Given the description of an element on the screen output the (x, y) to click on. 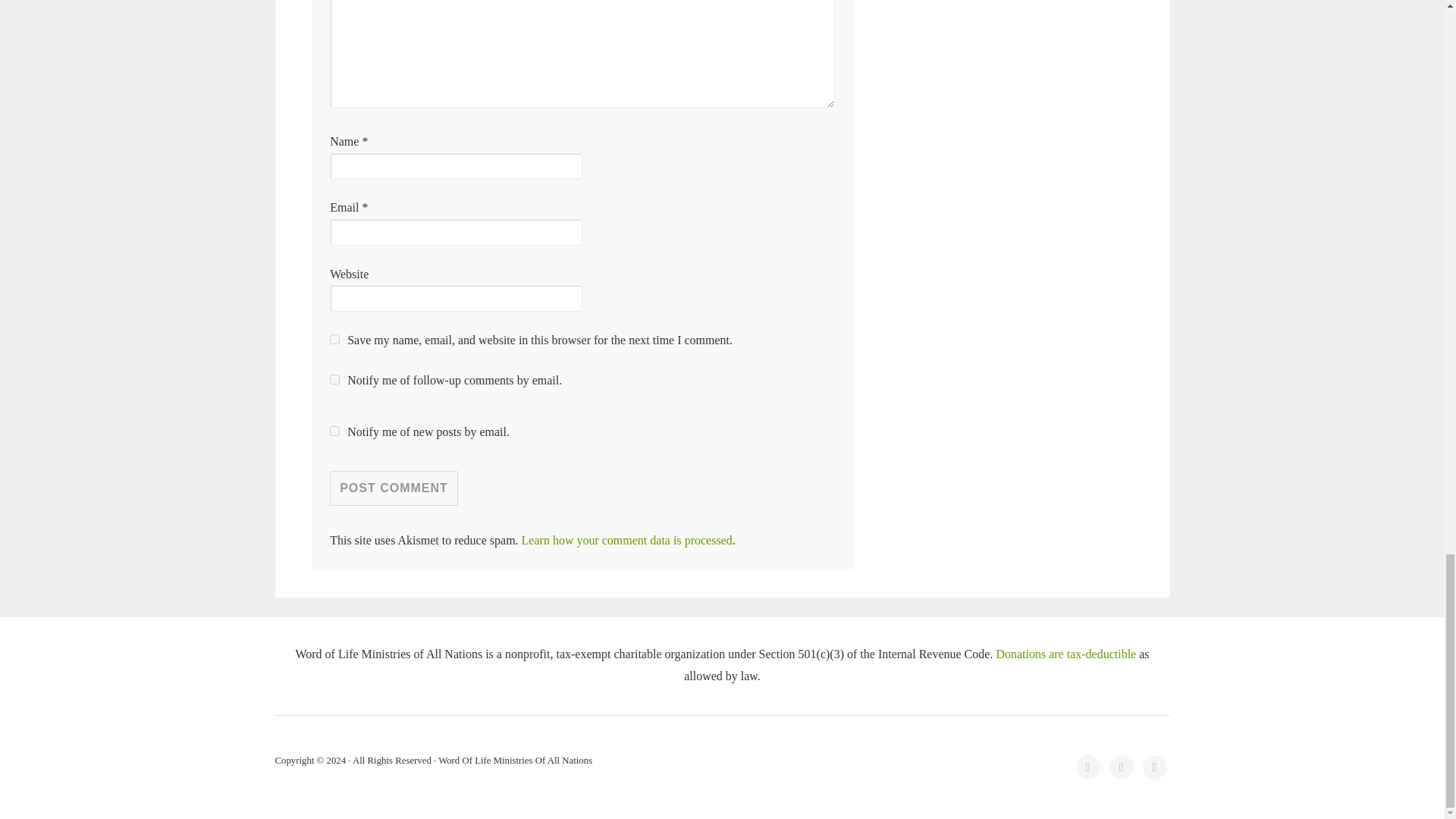
Post Comment (394, 488)
yes (334, 338)
subscribe (334, 430)
subscribe (334, 379)
